Given the description of an element on the screen output the (x, y) to click on. 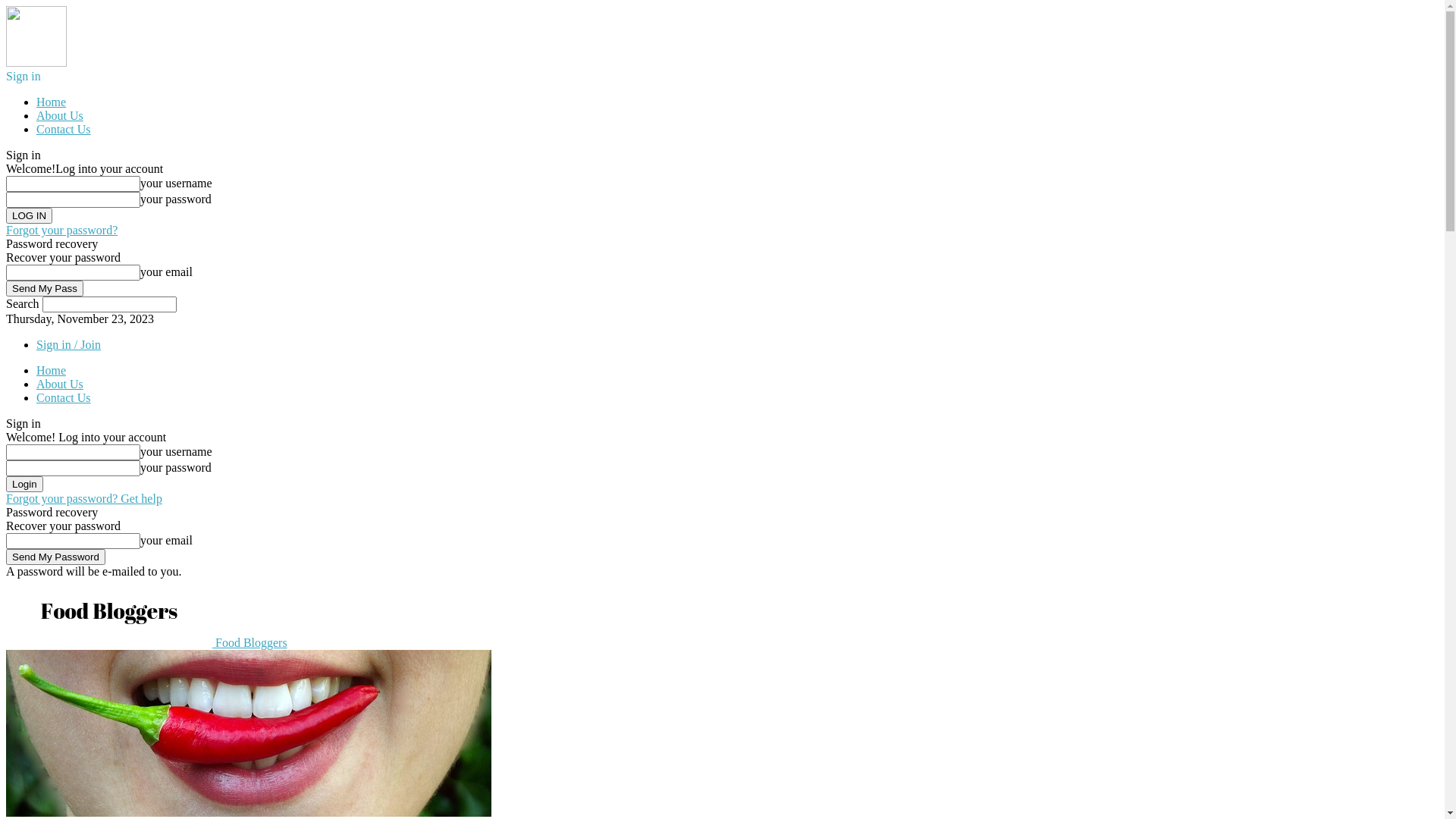
About Us Element type: text (59, 383)
Home Element type: text (50, 370)
Forgot your password? Element type: text (61, 229)
Sign in / Join Element type: text (68, 344)
About Us Element type: text (59, 115)
Contact Us Element type: text (63, 128)
Home Element type: text (50, 101)
Sign in Element type: text (23, 75)
Contact Us Element type: text (63, 397)
Food Bloggers Element type: text (146, 642)
Forgot your password? Get help Element type: text (84, 498)
